Given the description of an element on the screen output the (x, y) to click on. 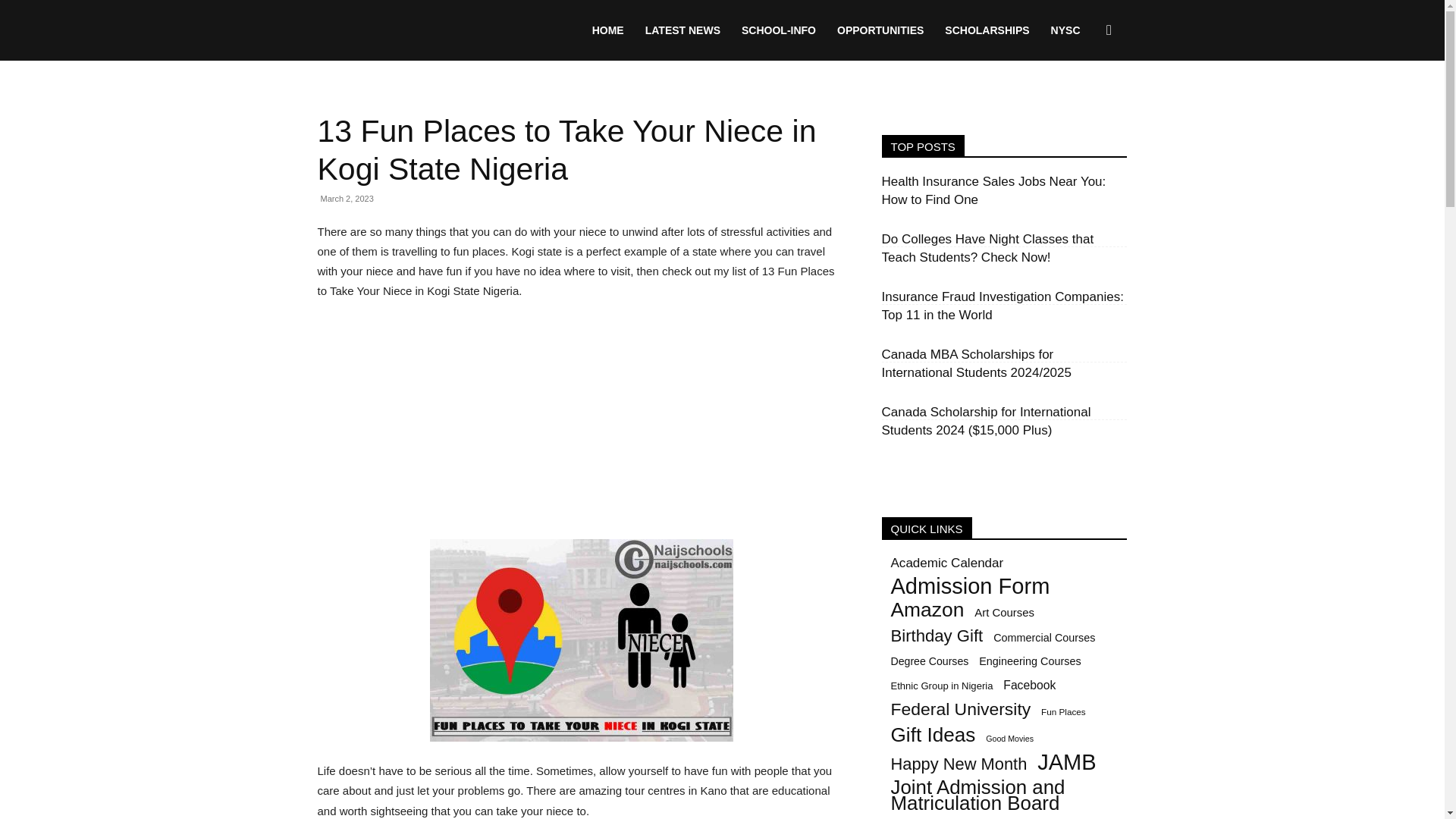
SCHOOL-INFO (778, 30)
NAIJSCHOOLS (430, 30)
Insurance Fraud Investigation Companies: Top 11 in the World (1001, 305)
LATEST NEWS (682, 30)
HOME (607, 30)
Search (1085, 102)
Health Insurance Sales Jobs Near You: How to Find One (992, 190)
